Given the description of an element on the screen output the (x, y) to click on. 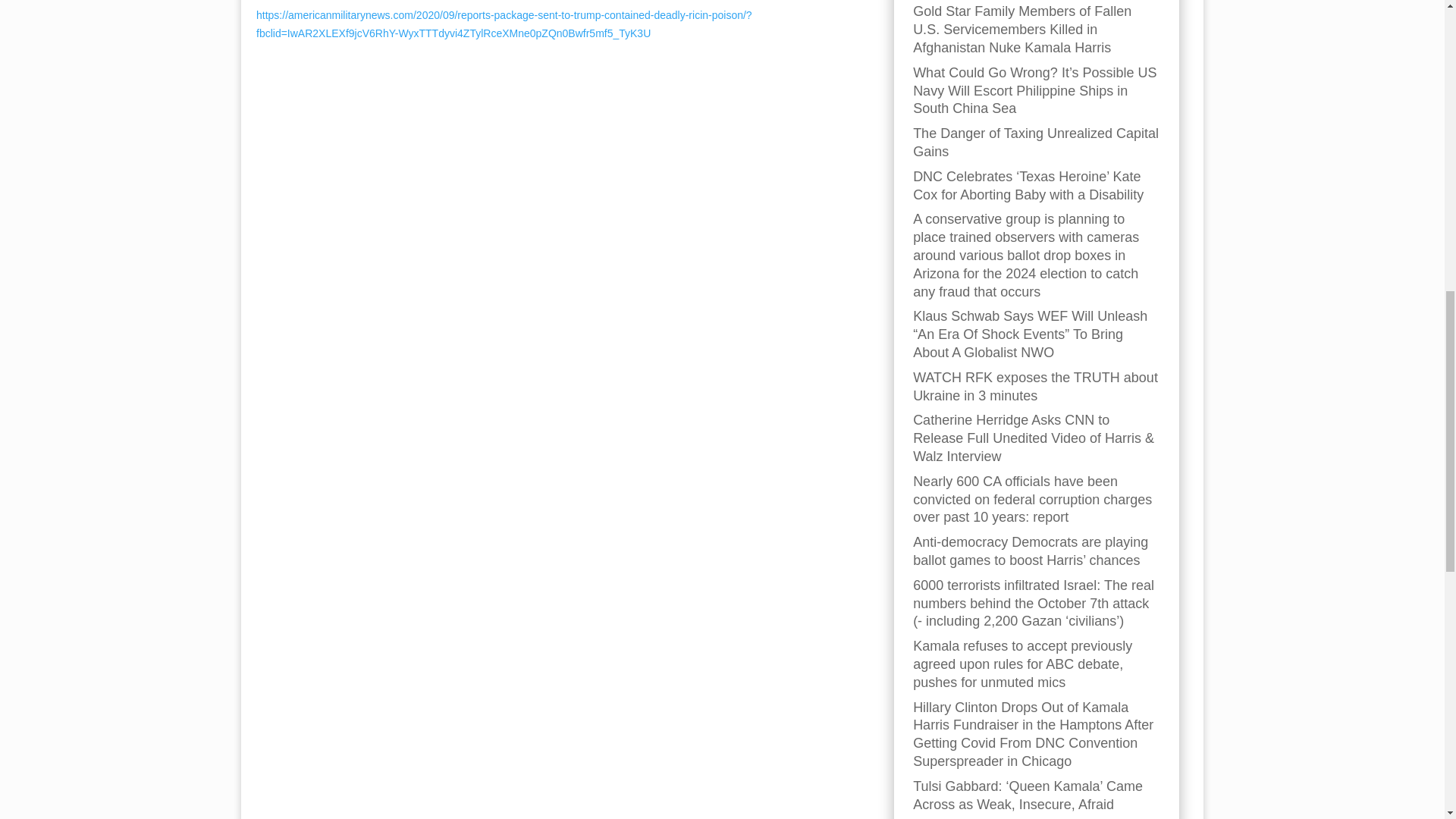
WATCH RFK exposes the TRUTH about Ukraine in 3 minutes (1034, 386)
The Danger of Taxing Unrealized Capital Gains (1035, 142)
